Given the description of an element on the screen output the (x, y) to click on. 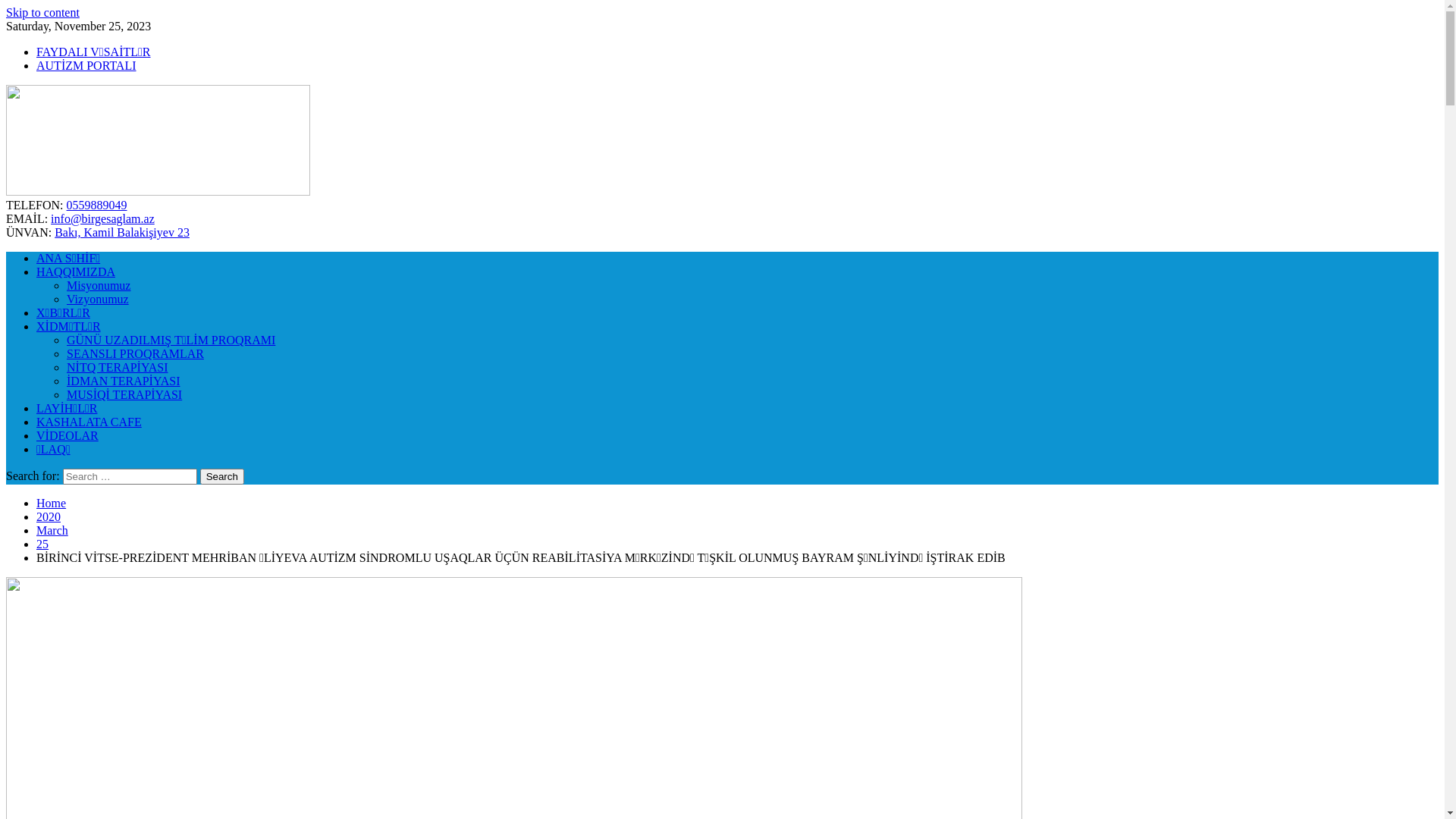
0559889049 Element type: text (96, 204)
info@birgesaglam.az Element type: text (102, 218)
SEANSLI PROQRAMLAR Element type: text (134, 353)
Skip to content Element type: text (42, 12)
2020 Element type: text (48, 516)
KASHALATA CAFE Element type: text (88, 421)
25 Element type: text (42, 543)
Home Element type: text (50, 502)
March Element type: text (52, 530)
HAQQIMIZDA Element type: text (75, 271)
Vizyonumuz Element type: text (97, 298)
Misyonumuz Element type: text (98, 285)
Search Element type: text (222, 476)
